Given the description of an element on the screen output the (x, y) to click on. 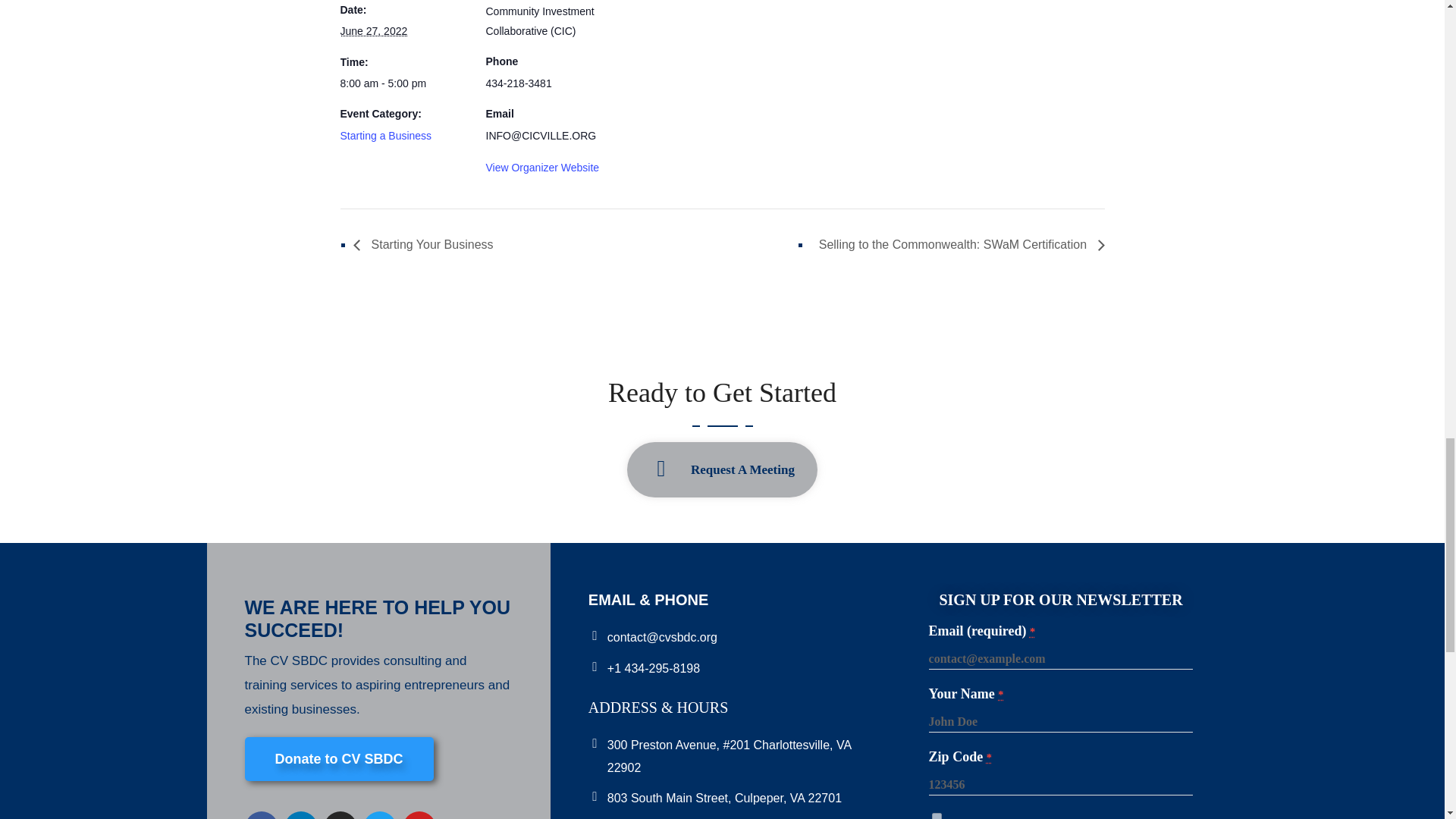
2022-06-27 (403, 83)
2022-06-27 (373, 30)
1 (936, 816)
